Given the description of an element on the screen output the (x, y) to click on. 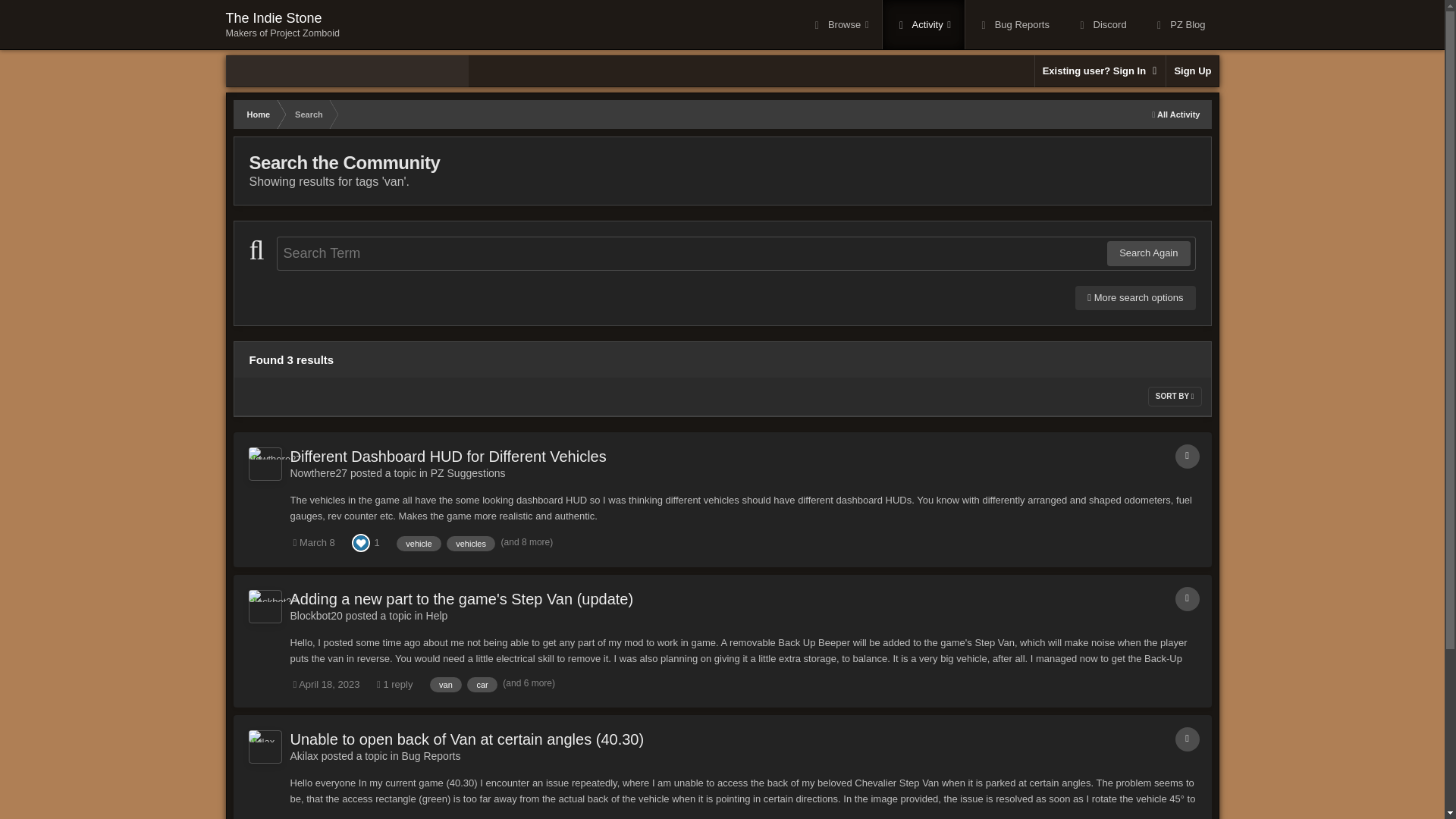
All Activity (1175, 113)
Search (307, 113)
Home (257, 113)
Go to Nowthere27's profile (318, 472)
Topic (1186, 456)
Find other content tagged with 'vehicle' (282, 24)
Sign Up (418, 543)
Browse (1192, 70)
Search Again (839, 24)
